Given the description of an element on the screen output the (x, y) to click on. 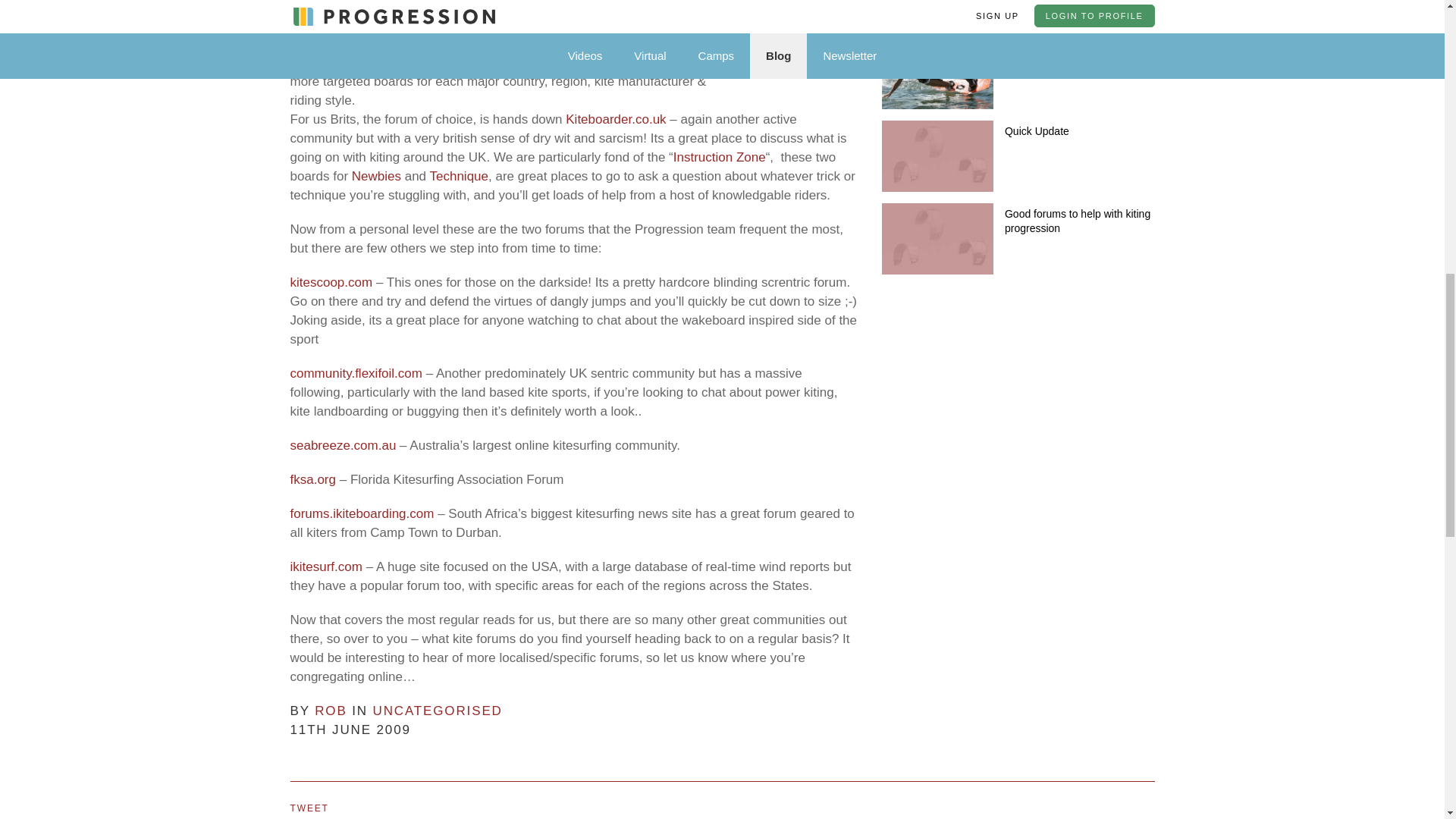
Riding Toeside, Why would you want to do that? (1077, 55)
Technique (458, 175)
Newbies (376, 175)
forums.ikiteboarding.com (361, 513)
UNCATEGORISED (437, 710)
Quick Update (1036, 131)
seabreeze.com.au (342, 445)
Good forums to help with kiting progression (1077, 221)
community.flexifoil.com (355, 373)
kitescoop.com (330, 282)
Kiteboarder.co.uk (615, 119)
ikitesurf.com (325, 566)
Instruction Zone (718, 156)
fksa.org (311, 479)
TWEET (309, 808)
